Given the description of an element on the screen output the (x, y) to click on. 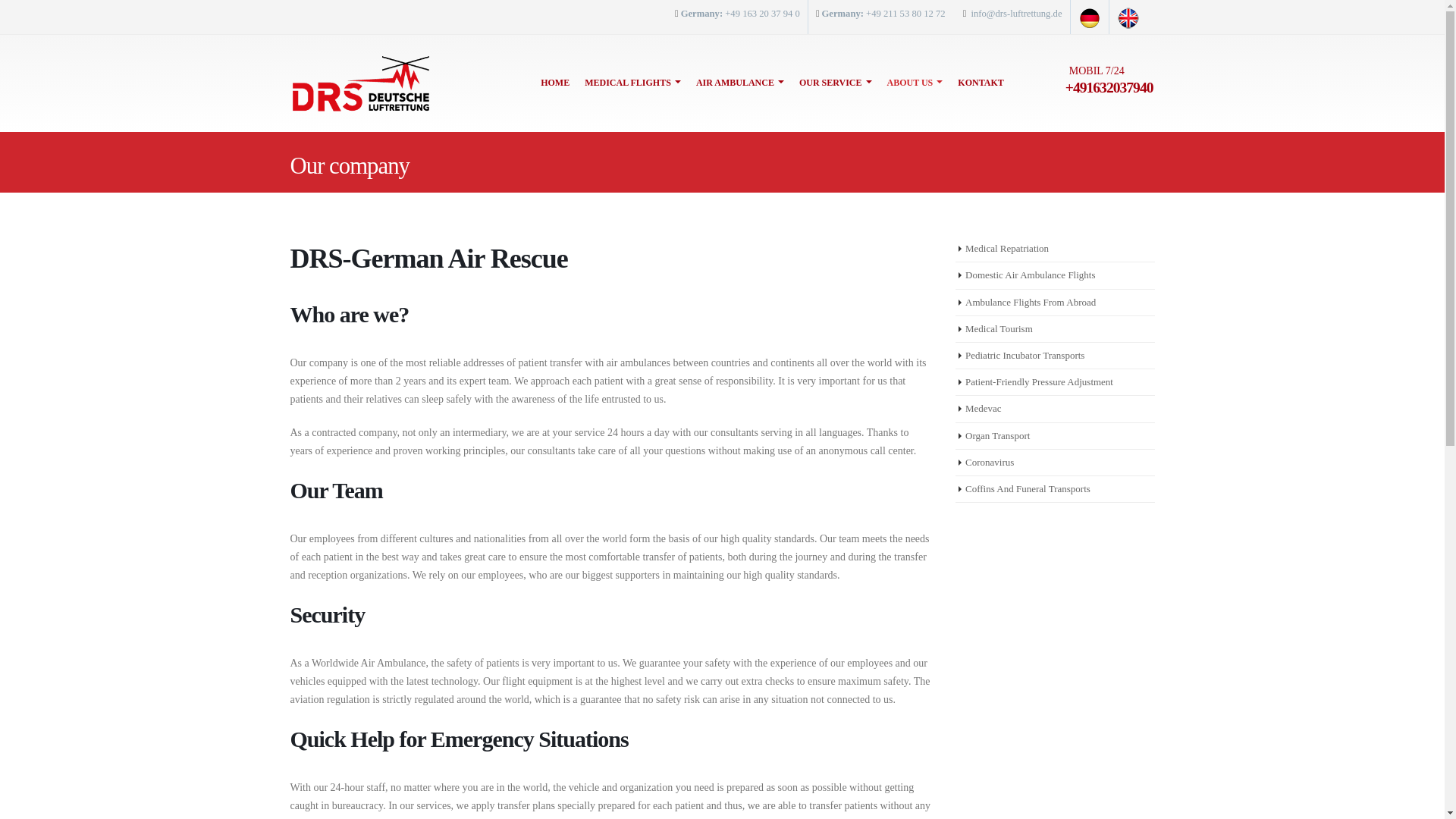
OUR SERVICE (835, 81)
AIR AMBULANCE (739, 81)
ABOUT US (914, 81)
MEDICAL FLIGHTS (632, 81)
HOME (555, 81)
KONTAKT (980, 81)
